Given the description of an element on the screen output the (x, y) to click on. 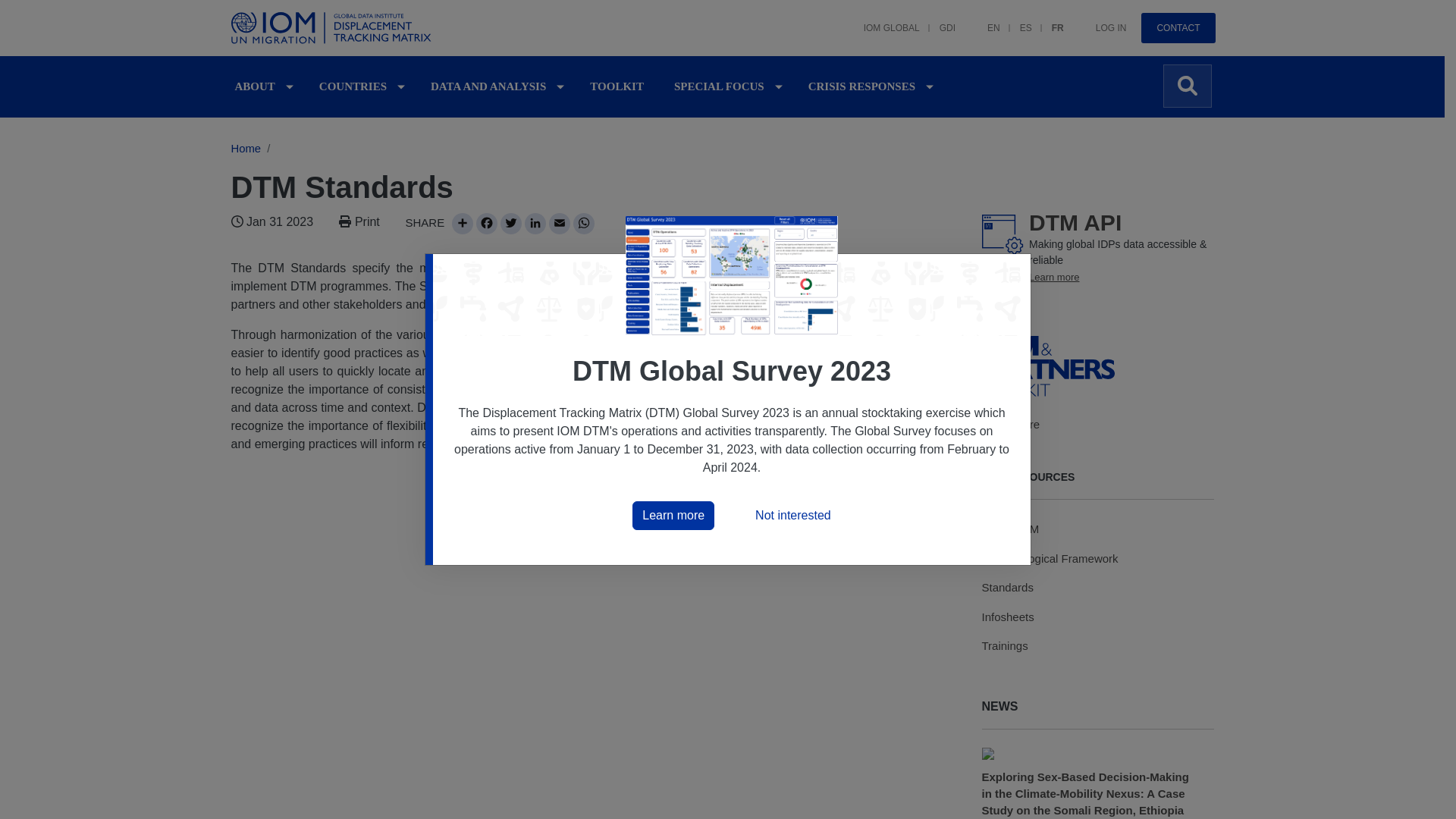
ABOUT (254, 86)
ES (1016, 19)
GDI (937, 19)
LOG IN (1100, 19)
Home (333, 28)
IOM GLOBAL (882, 19)
FR (1048, 19)
CONTACT (1177, 28)
EN (984, 19)
